Given the description of an element on the screen output the (x, y) to click on. 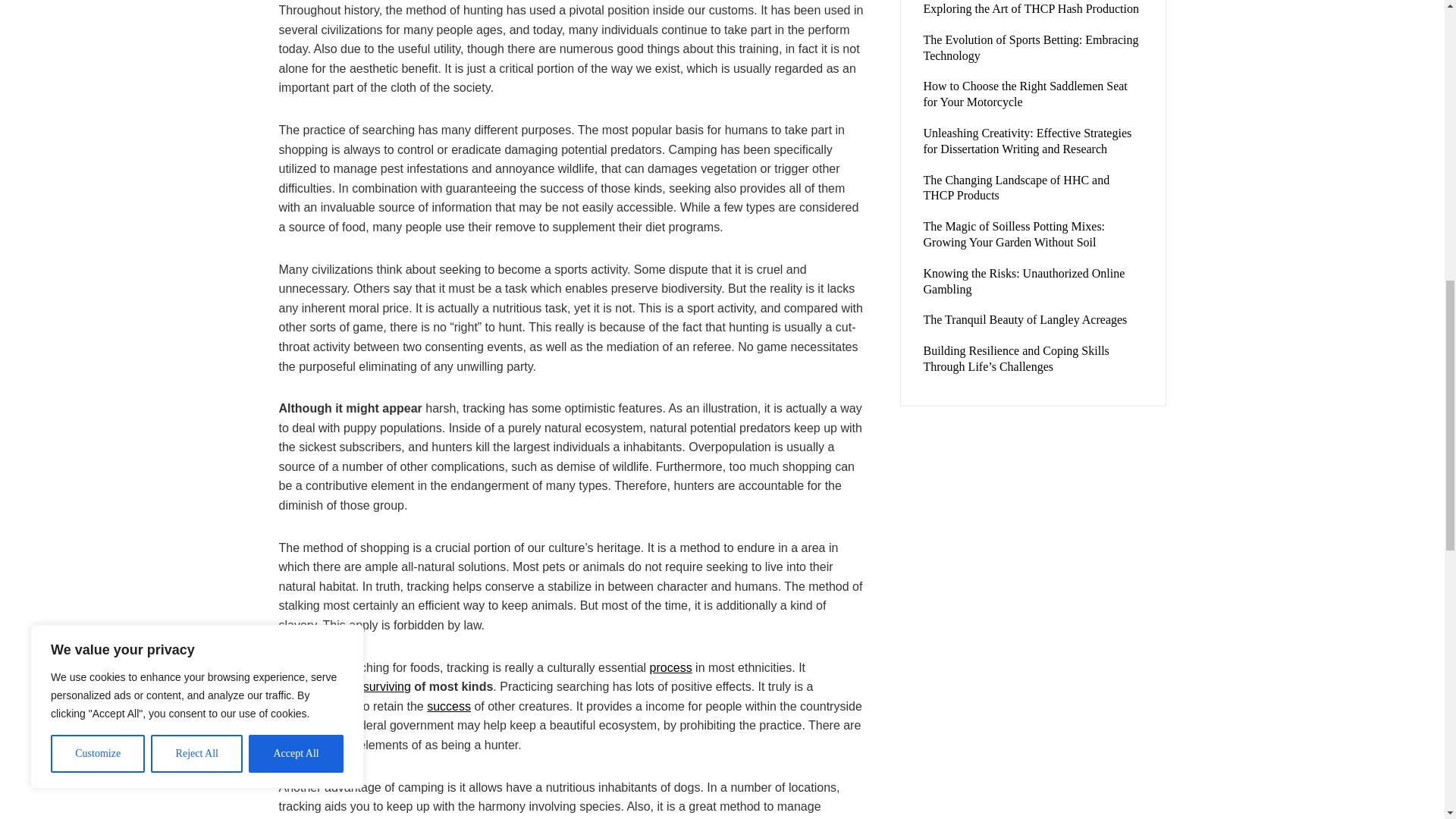
surviving (386, 686)
process (671, 667)
success (448, 706)
